Given the description of an element on the screen output the (x, y) to click on. 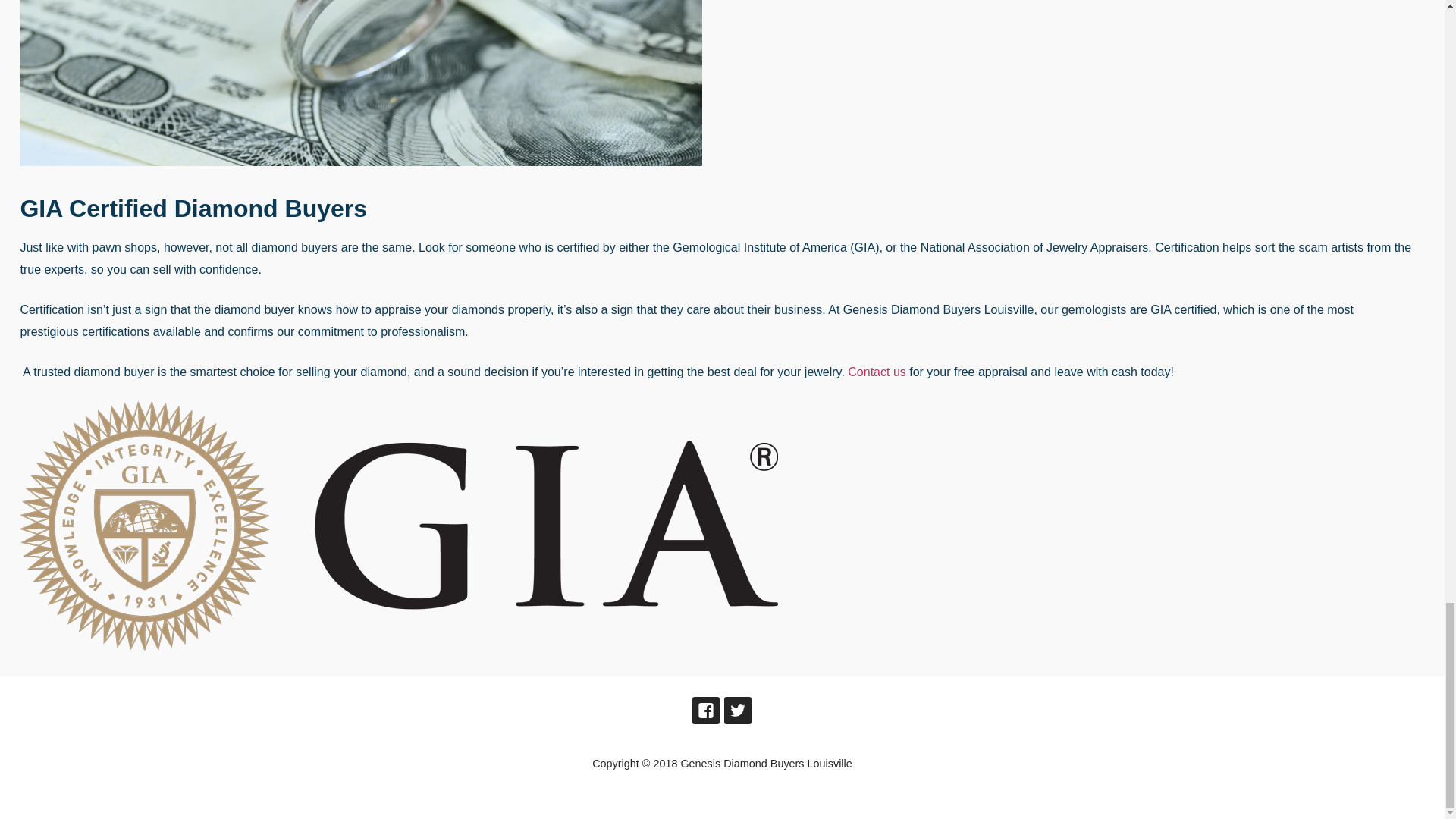
Facebook (706, 709)
Contact us (876, 371)
Twitter (737, 709)
genesis diamond buyers louisville sell your diamond (360, 83)
